Given the description of an element on the screen output the (x, y) to click on. 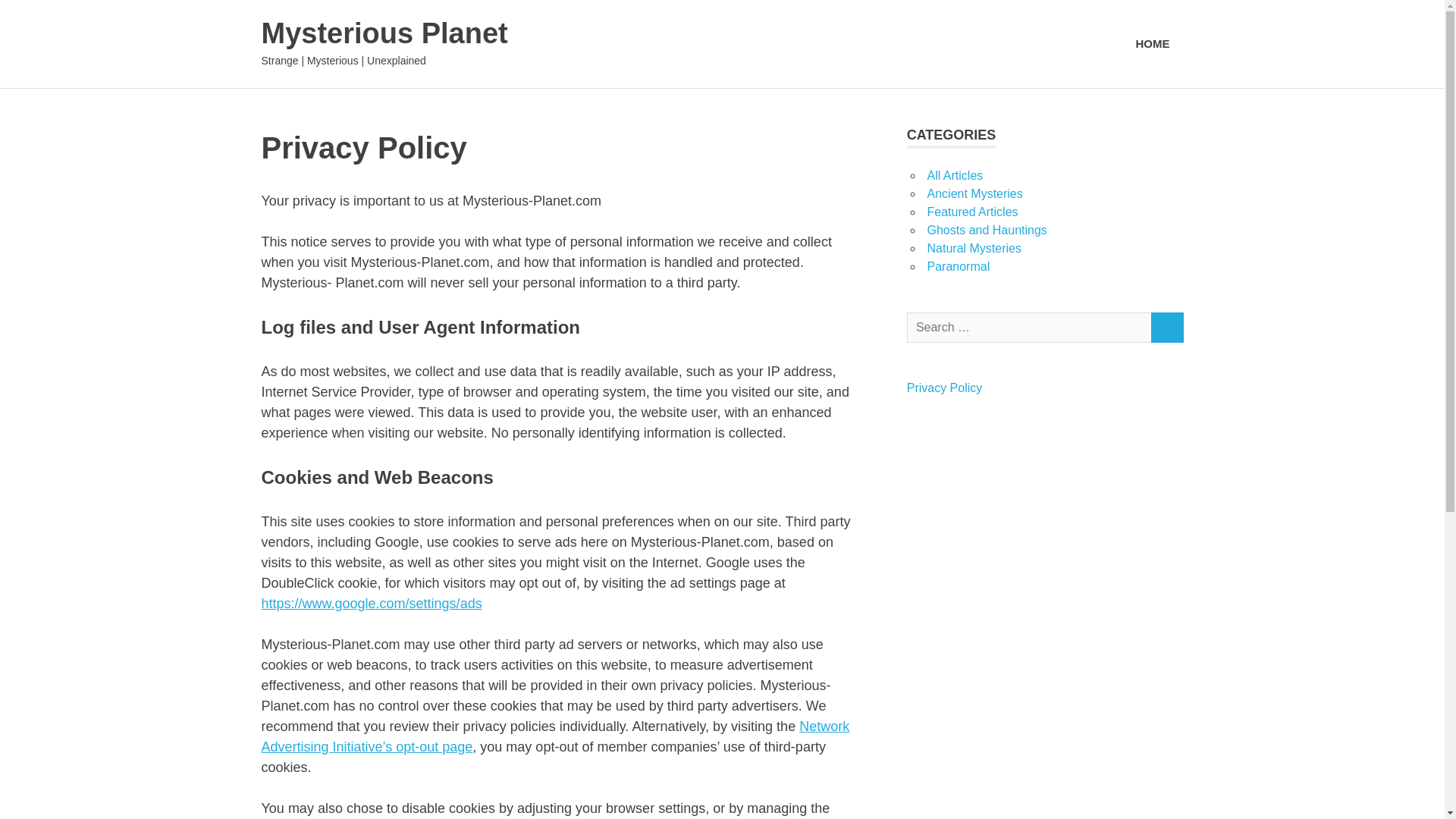
Ancient Mysteries (974, 193)
Mysterious Planet (383, 33)
Paranormal (958, 266)
All Articles (954, 174)
Search for: (1029, 327)
Featured Articles (971, 211)
SEARCH (1166, 327)
Ghosts and Hauntings (986, 229)
HOME (1152, 44)
Privacy Policy (944, 387)
